Given the description of an element on the screen output the (x, y) to click on. 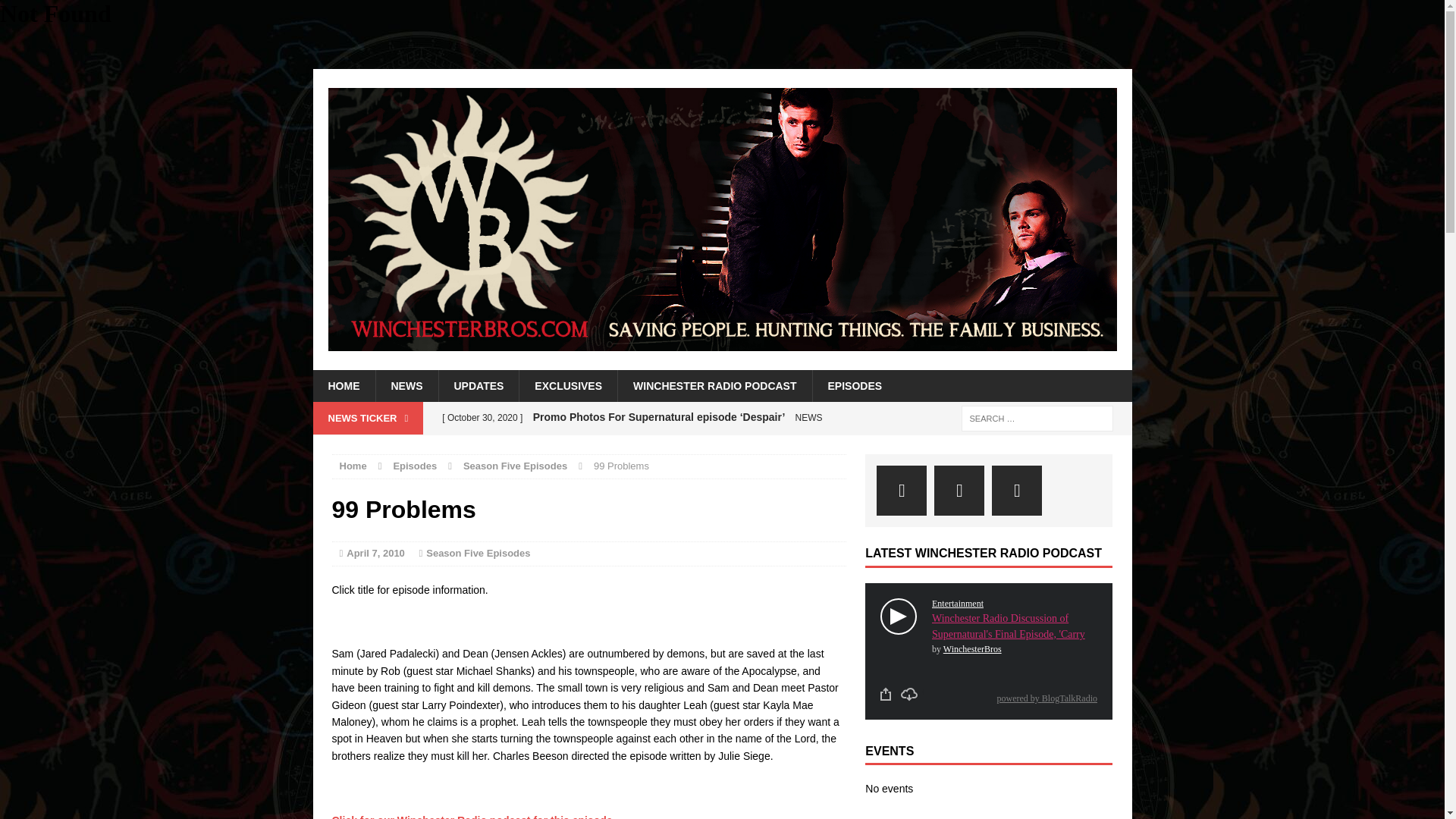
NEWS (406, 386)
Advertisement (177, 22)
HOME (343, 386)
